Given the description of an element on the screen output the (x, y) to click on. 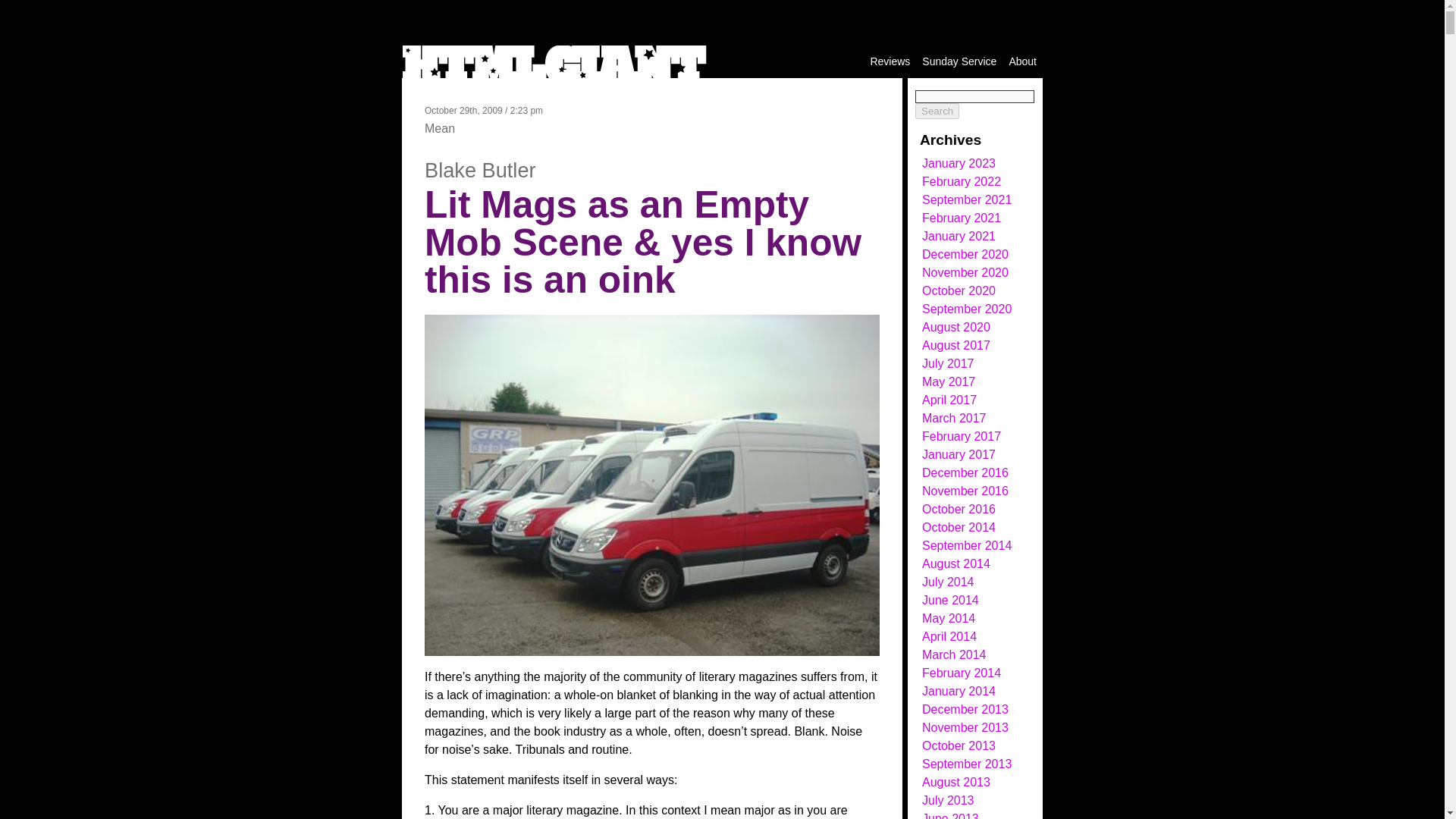
About (1022, 61)
Posts by Blake Butler (480, 169)
Mean (439, 128)
Reviews (889, 61)
Sunday Service (958, 61)
Search (937, 110)
Blake Butler (480, 169)
